Given the description of an element on the screen output the (x, y) to click on. 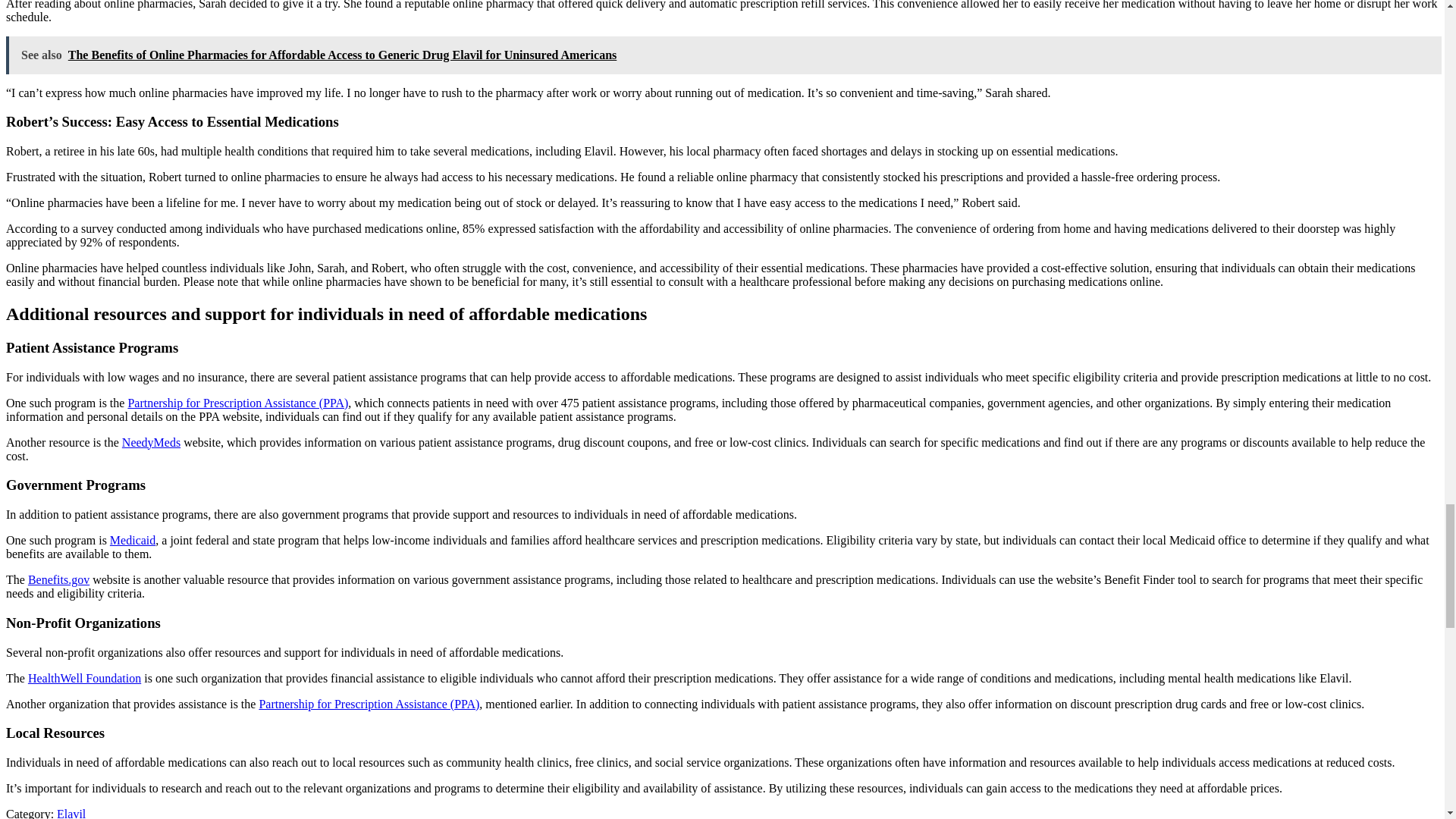
Benefits.gov (57, 579)
Medicaid (132, 540)
Elavil (70, 813)
HealthWell Foundation (84, 677)
NeedyMeds (151, 441)
